Given the description of an element on the screen output the (x, y) to click on. 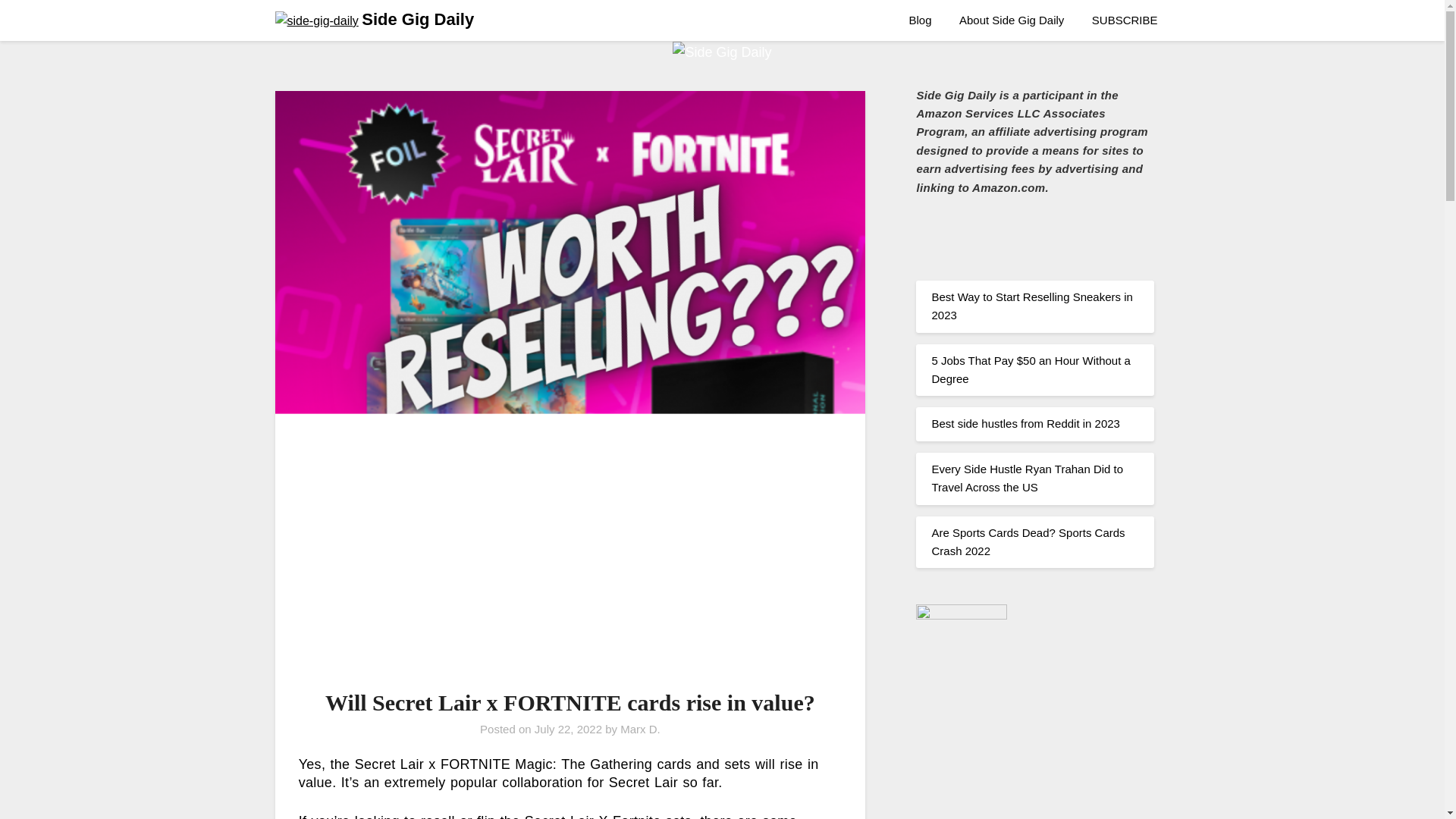
Marx D. (640, 728)
Blog (919, 20)
Every Side Hustle Ryan Trahan Did to Travel Across the US (1026, 477)
Side Gig Daily (417, 19)
Are Sports Cards Dead? Sports Cards Crash 2022 (1027, 541)
SUBSCRIBE (1125, 20)
Best Way to Start Reselling Sneakers in 2023 (1031, 305)
About Side Gig Daily (1011, 20)
Best side hustles from Reddit in 2023 (1025, 422)
July 22, 2022 (568, 728)
